Given the description of an element on the screen output the (x, y) to click on. 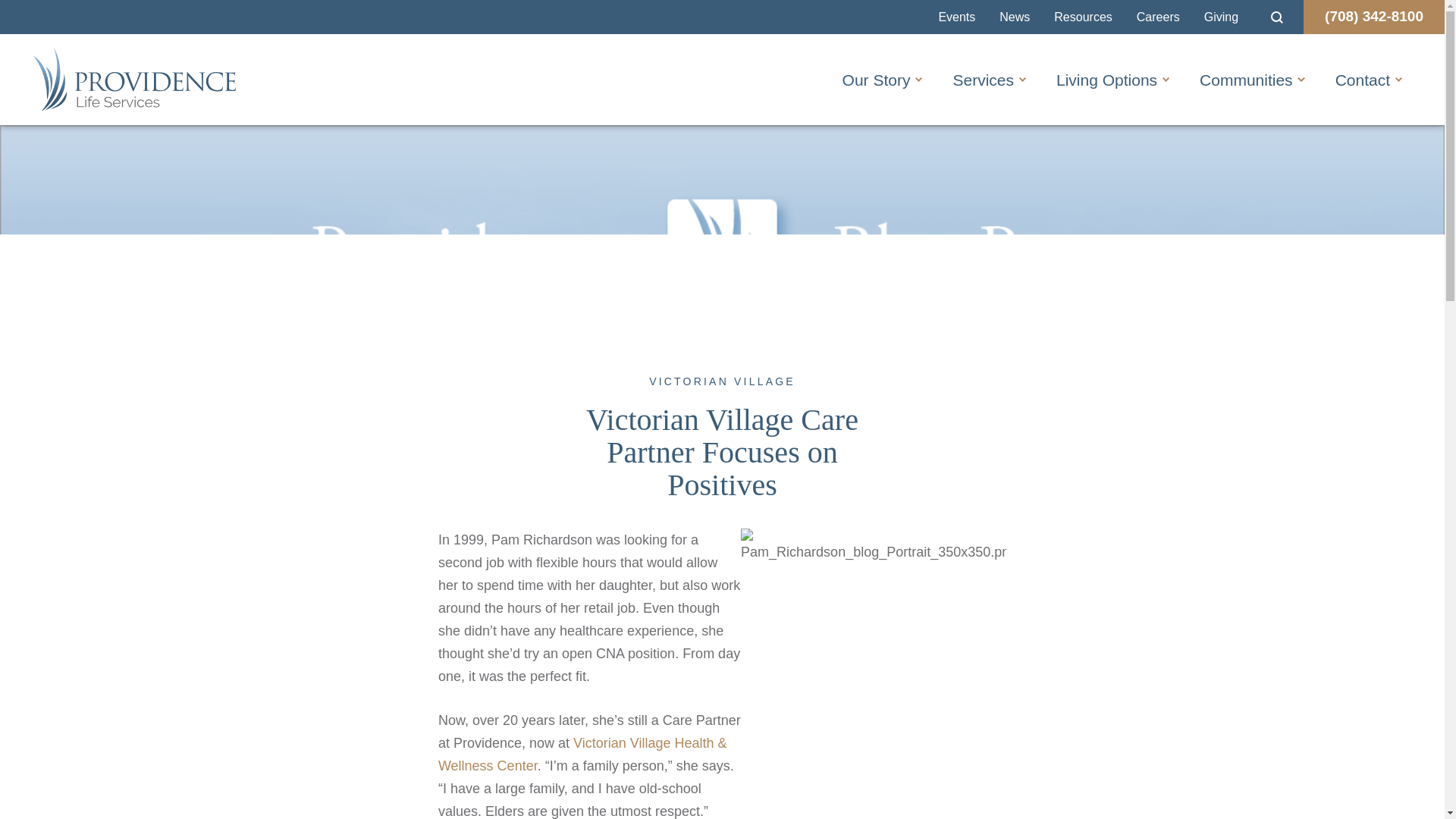
News (1014, 17)
Events (956, 17)
Search (1276, 17)
Resources (1083, 17)
Giving (1221, 17)
Communities (1246, 79)
Careers (1158, 17)
Services (983, 79)
Living Options (1106, 79)
Our Story (876, 79)
